Given the description of an element on the screen output the (x, y) to click on. 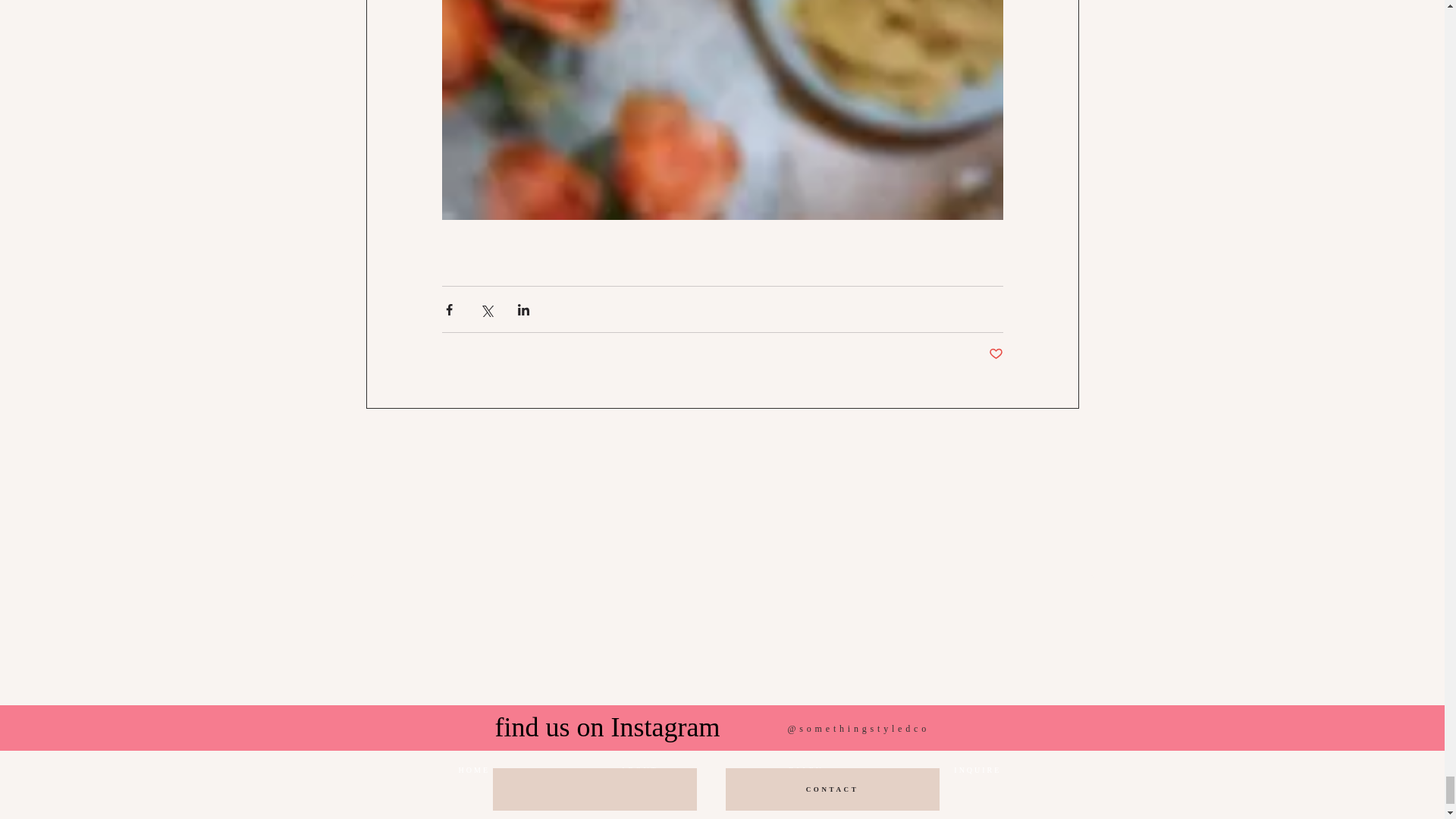
DIARY (805, 770)
CONTACT (832, 789)
ABOUT (638, 770)
INQUIRE (976, 770)
Post not marked as liked (995, 354)
HOME (473, 770)
